Given the description of an element on the screen output the (x, y) to click on. 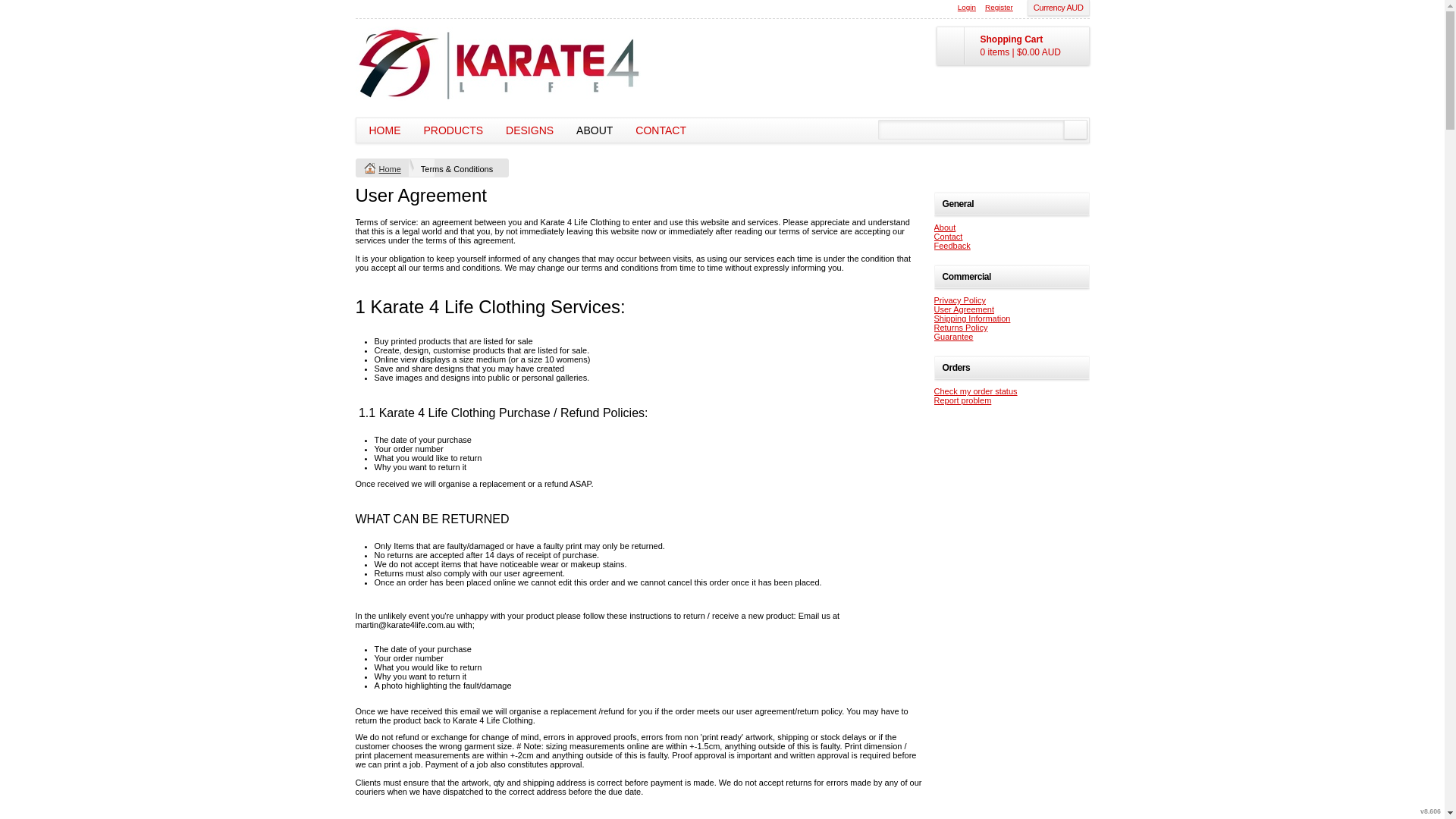
PRODUCTS Element type: text (453, 130)
Login Element type: text (966, 7)
Check my order status Element type: text (975, 390)
ABOUT Element type: text (594, 130)
About Element type: text (945, 227)
CONTACT Element type: text (660, 130)
Shopping Cart
0 items | $0.00 AUD Element type: text (1011, 45)
search Element type: text (1074, 129)
Privacy Policy Element type: text (959, 299)
Home Element type: text (390, 168)
Register Element type: text (998, 7)
HOME Element type: text (384, 130)
User Agreement Element type: text (964, 308)
Report problem Element type: text (962, 399)
Guarantee Element type: text (953, 336)
Feedback Element type: text (952, 245)
Currency AUD Element type: text (1058, 7)
Returns Policy Element type: text (961, 327)
Shipping Information Element type: text (972, 318)
Contact Element type: text (948, 236)
DESIGNS Element type: text (529, 130)
